Given the description of an element on the screen output the (x, y) to click on. 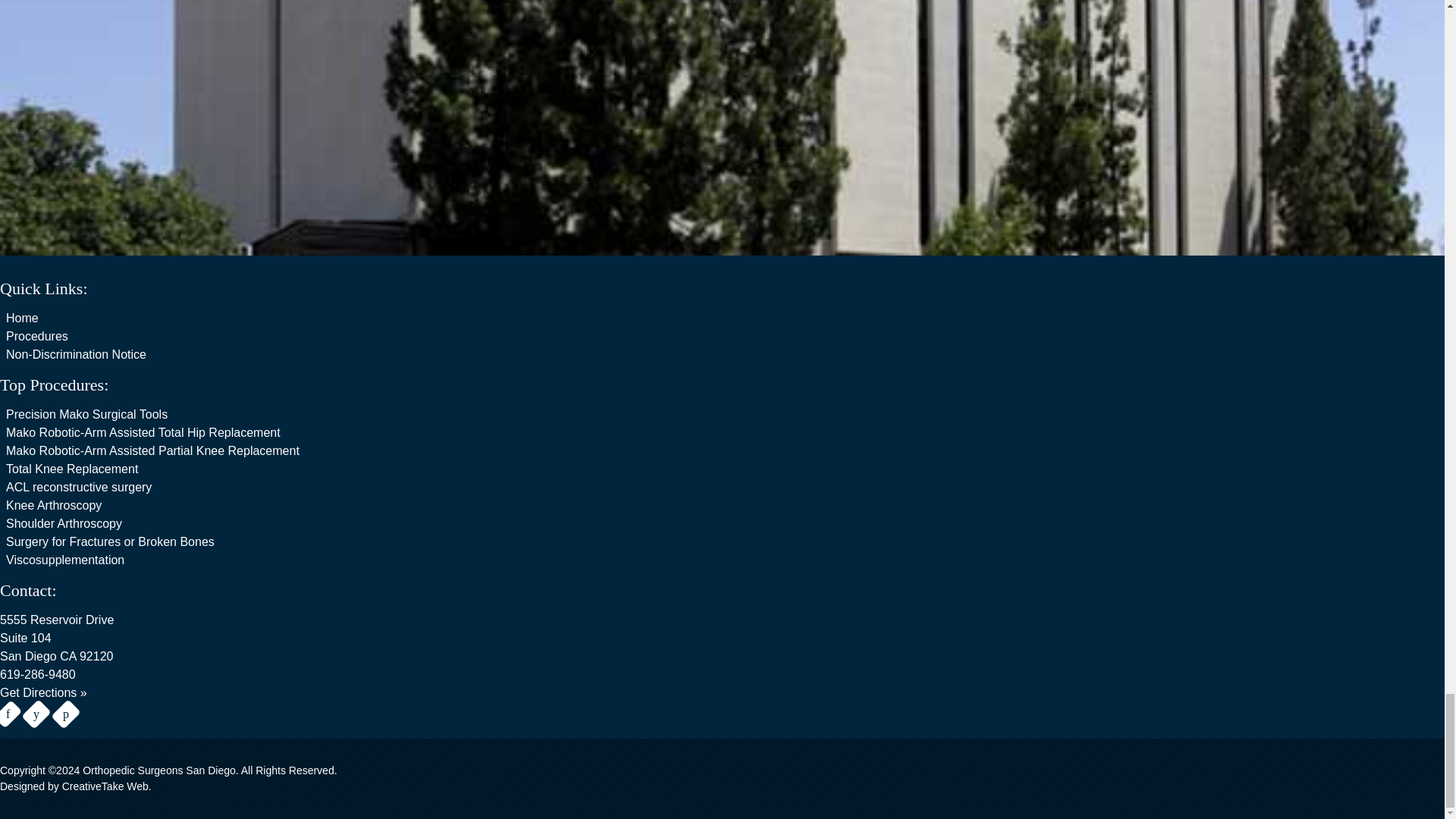
CreativeTake Medical (106, 786)
Orthopedic Surgeons San Diego. (159, 770)
